Given the description of an element on the screen output the (x, y) to click on. 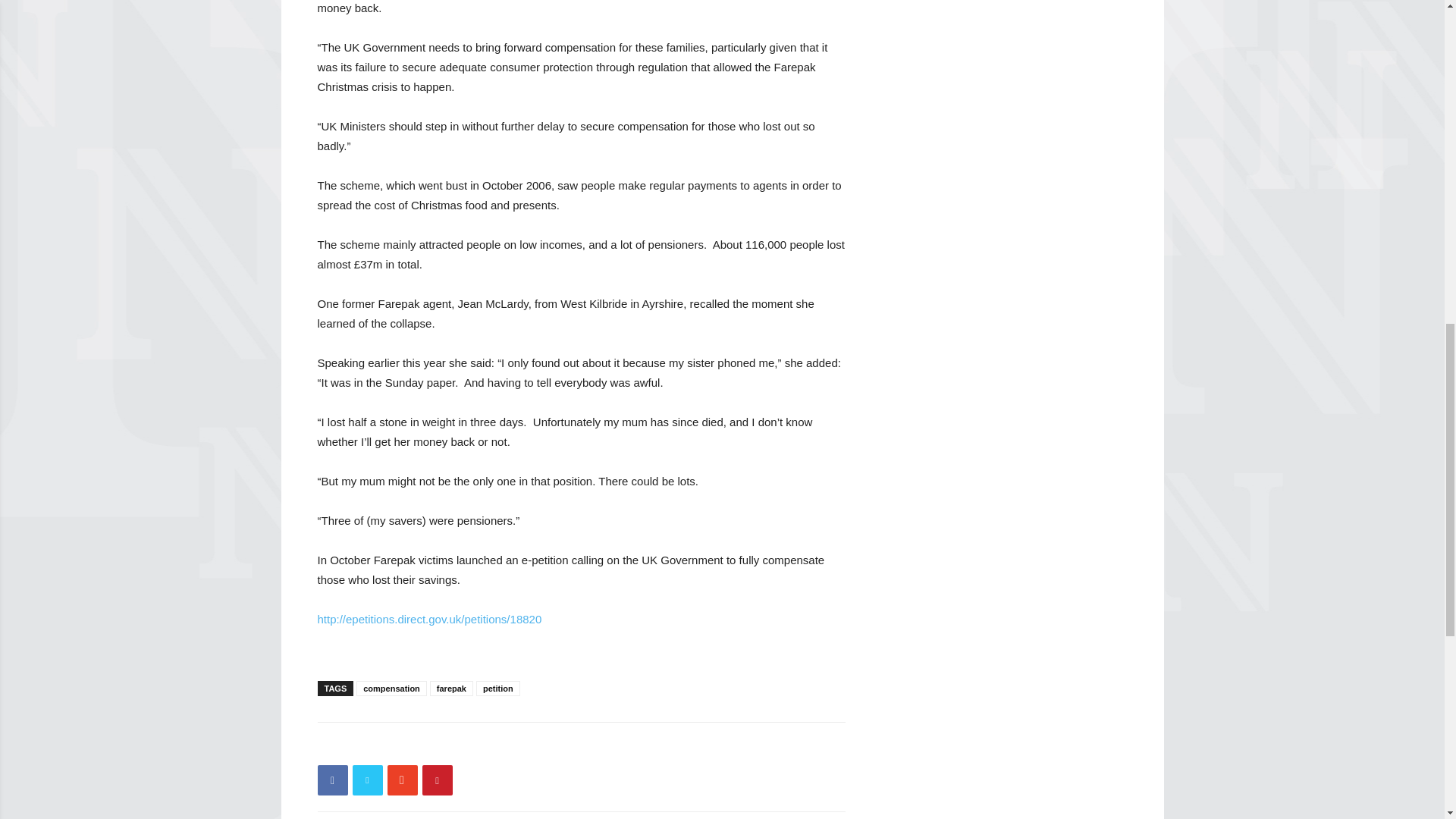
compensation (391, 688)
farepak (451, 688)
